Given the description of an element on the screen output the (x, y) to click on. 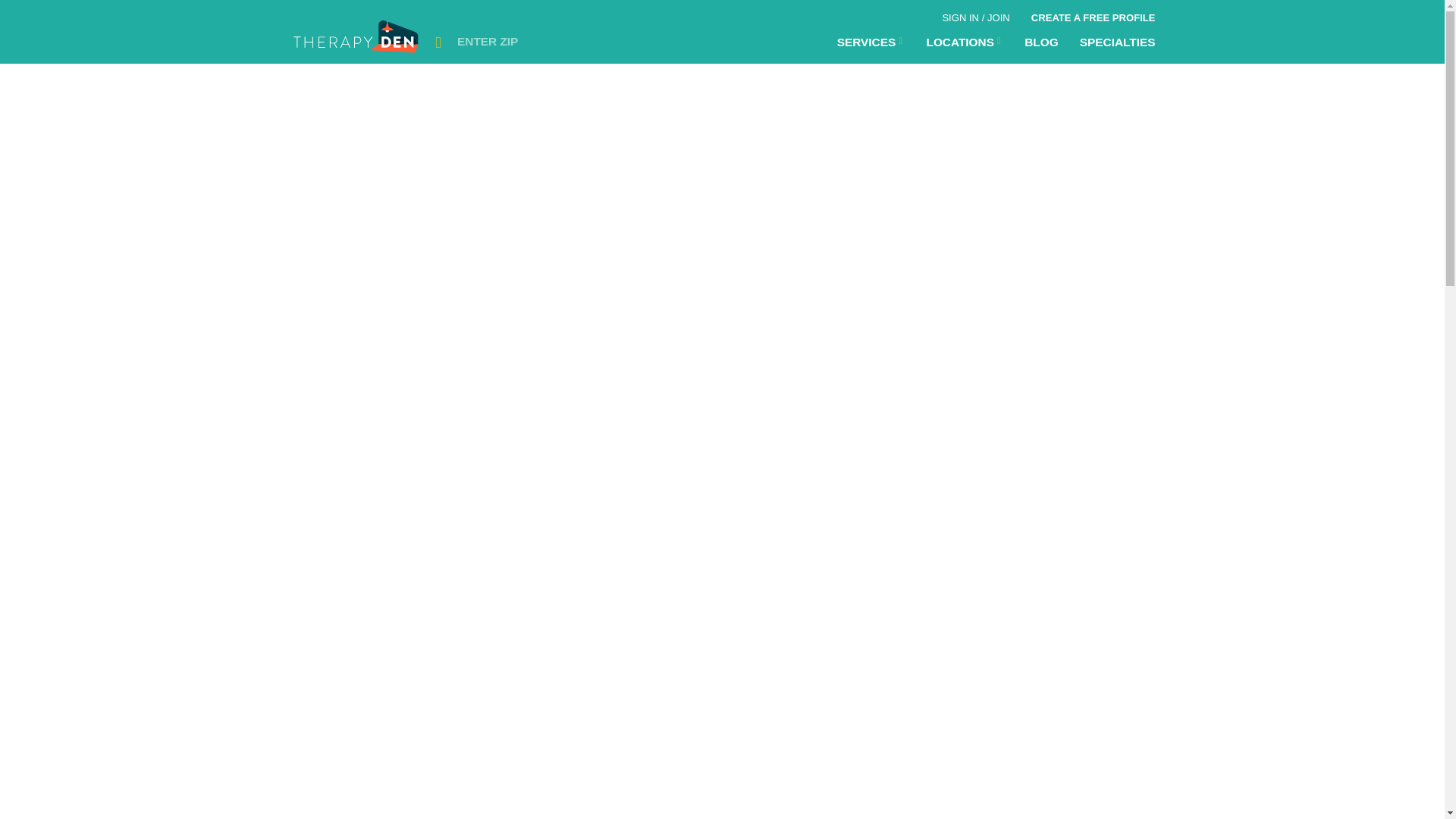
LOCATIONS (964, 41)
Locations (964, 41)
Specialties (1117, 41)
SERVICES (871, 41)
TherapyDen Home (357, 41)
SPECIALTIES (1117, 41)
BLOG (1040, 41)
CREATE A FREE PROFILE (1093, 15)
Locations (871, 41)
Blog (1040, 41)
